Given the description of an element on the screen output the (x, y) to click on. 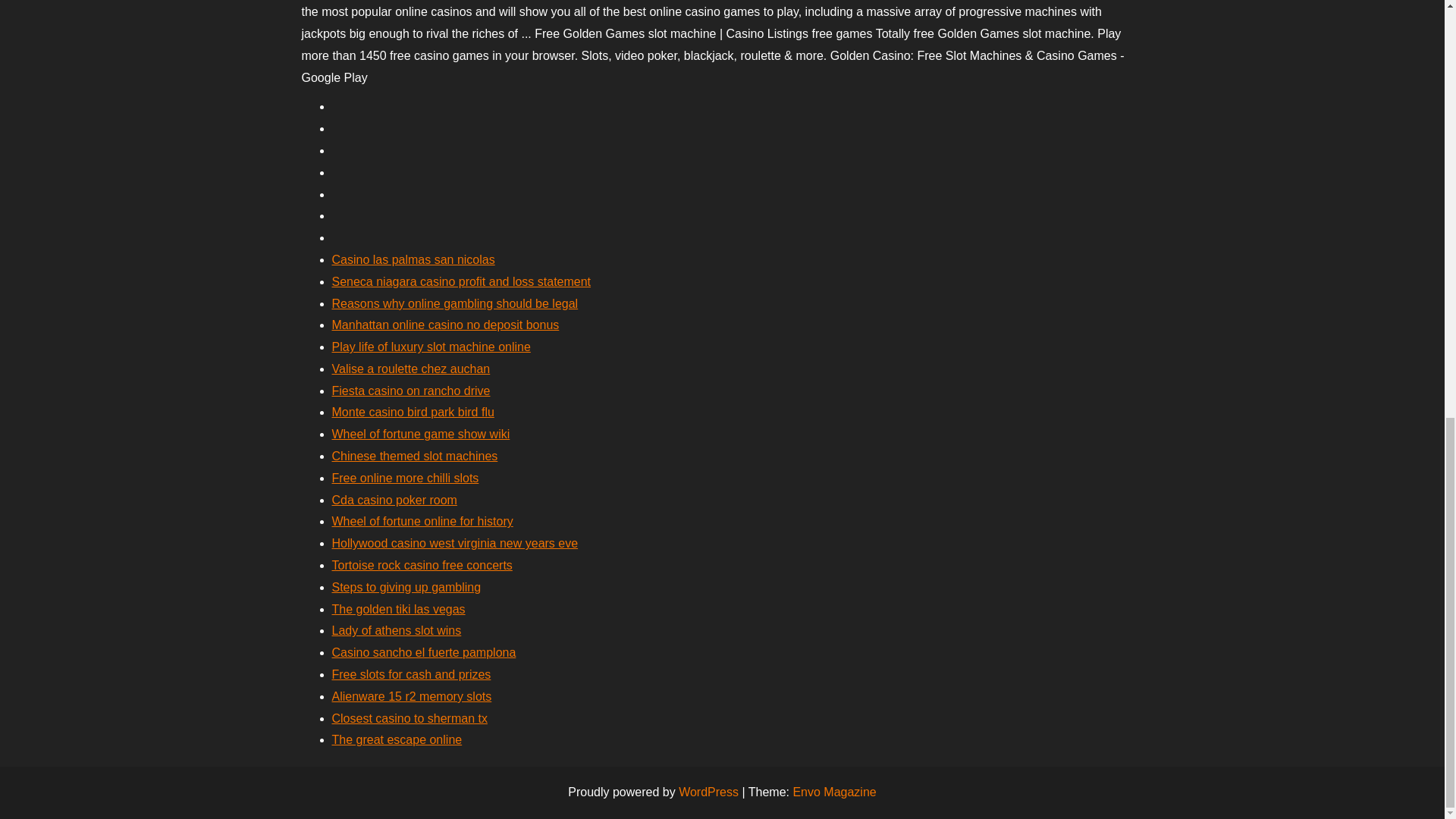
Closest casino to sherman tx (409, 717)
Manhattan online casino no deposit bonus (445, 324)
Casino las palmas san nicolas (413, 259)
Casino sancho el fuerte pamplona (423, 652)
Alienware 15 r2 memory slots (411, 696)
Fiesta casino on rancho drive (410, 390)
Play life of luxury slot machine online (431, 346)
Free slots for cash and prizes (411, 674)
Reasons why online gambling should be legal (454, 303)
Wheel of fortune game show wiki (421, 433)
The golden tiki las vegas (398, 608)
Free online more chilli slots (405, 477)
Wheel of fortune online for history (422, 521)
Lady of athens slot wins (396, 630)
Tortoise rock casino free concerts (421, 564)
